Given the description of an element on the screen output the (x, y) to click on. 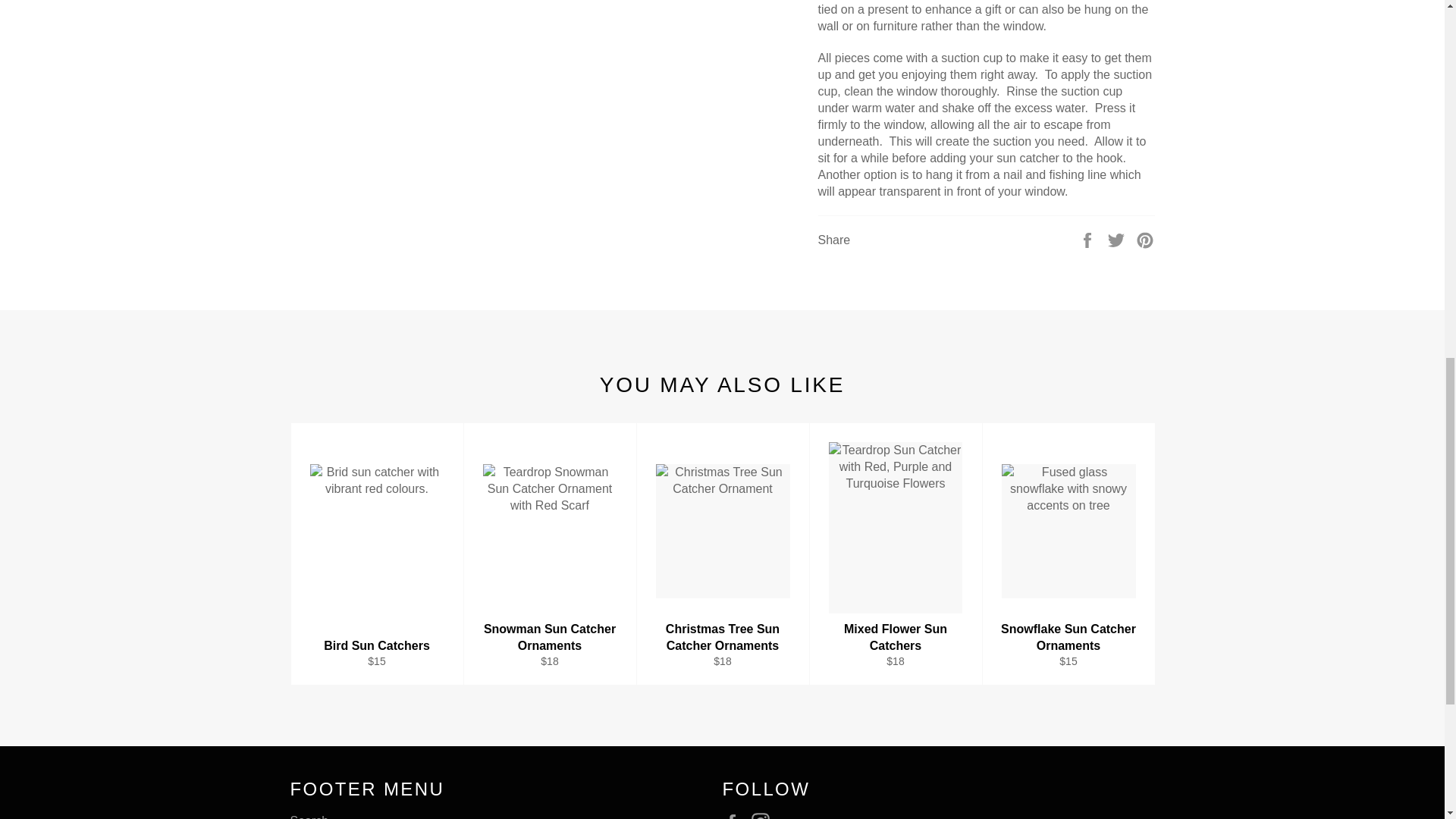
creativityinglassdesigns.ca on Facebook (735, 816)
Pin on Pinterest (1144, 238)
Tweet on Twitter (1117, 238)
Share on Facebook (1088, 238)
creativityinglassdesigns.ca on Instagram (764, 816)
